Given the description of an element on the screen output the (x, y) to click on. 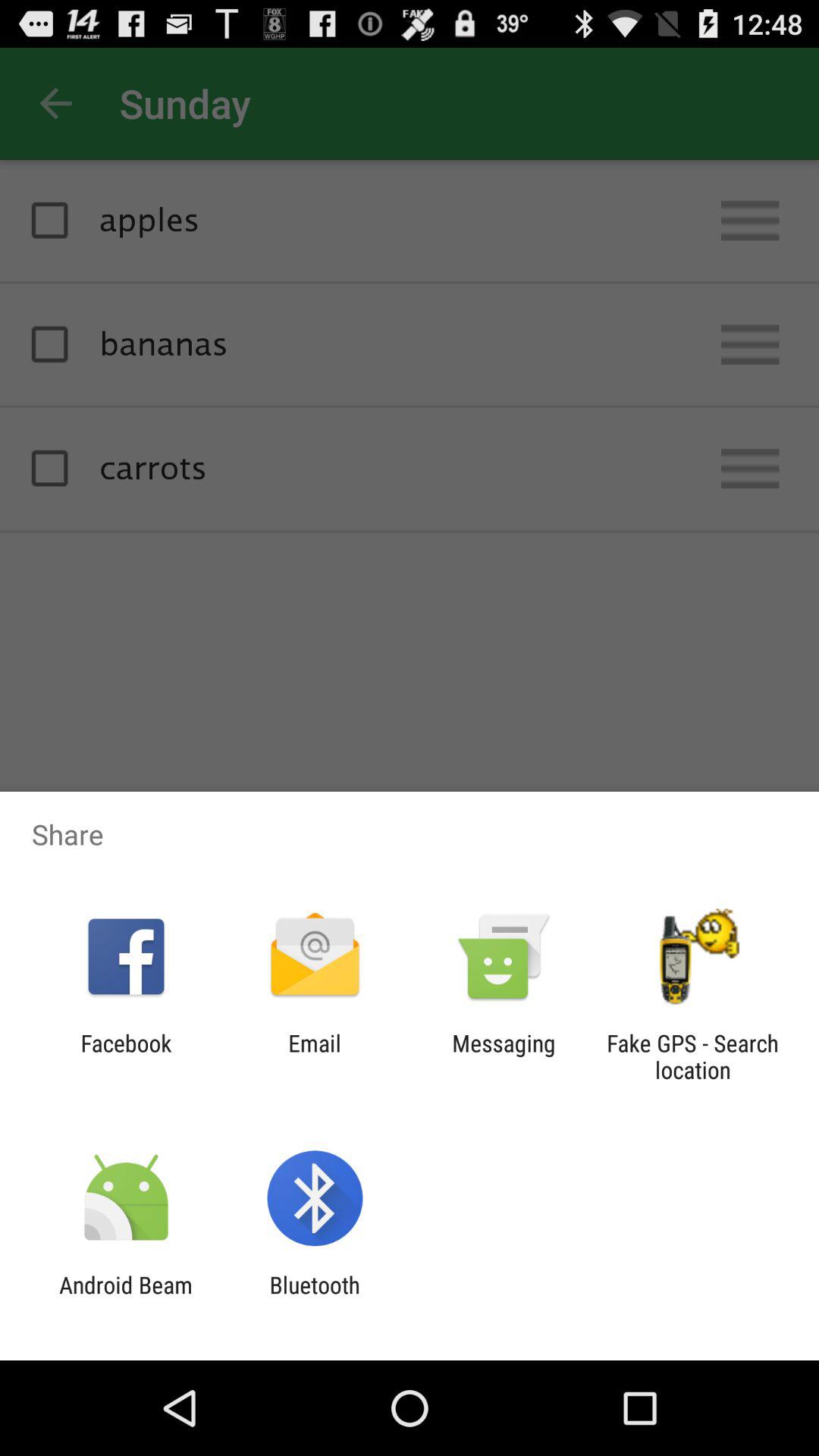
press messaging icon (503, 1056)
